Given the description of an element on the screen output the (x, y) to click on. 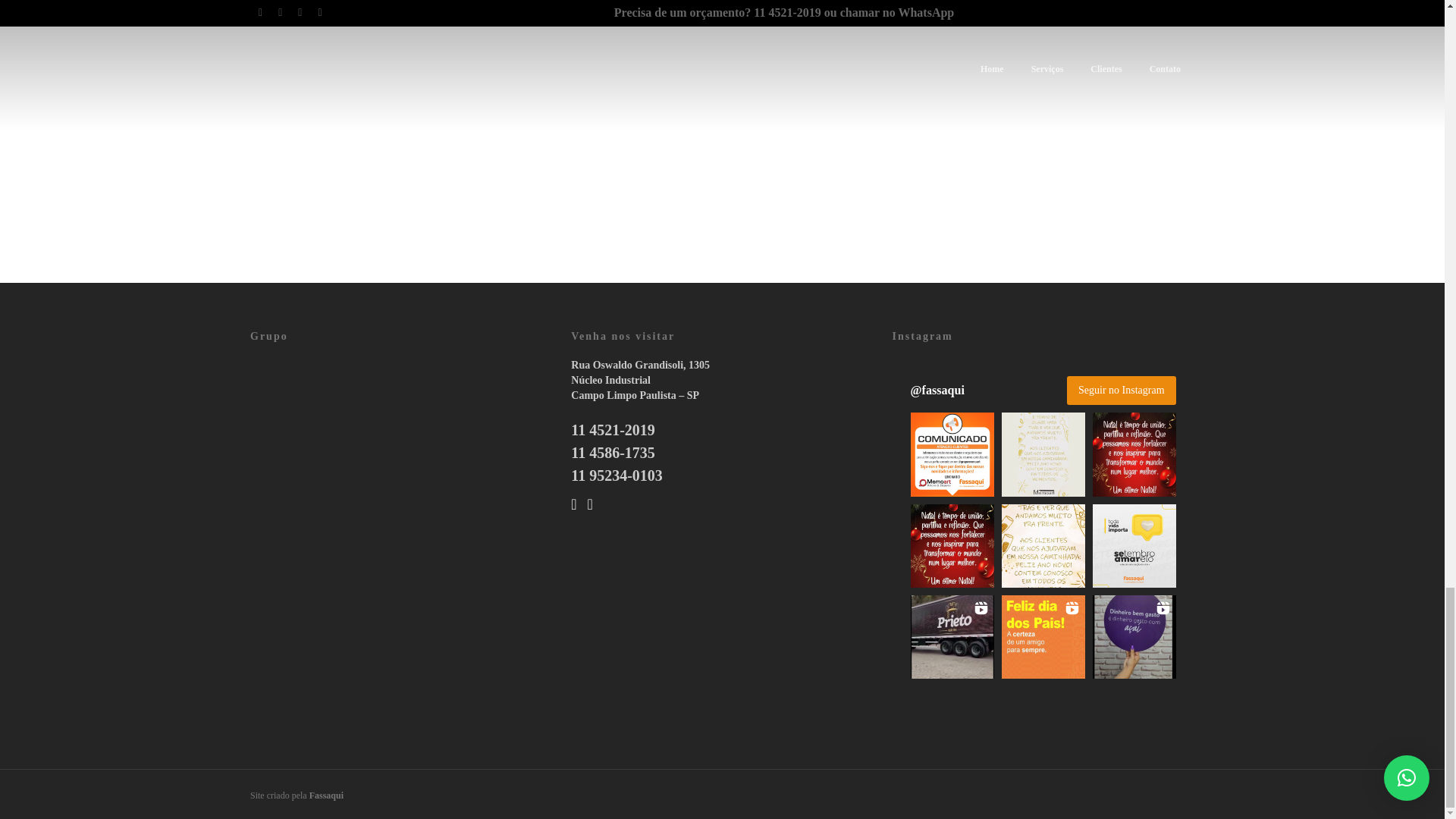
11 95234-0103 (616, 475)
11 4521-2019 (612, 429)
11 4586-1735 (612, 452)
More posts by admin (722, 202)
Seguir no Instagram (1121, 389)
